Given the description of an element on the screen output the (x, y) to click on. 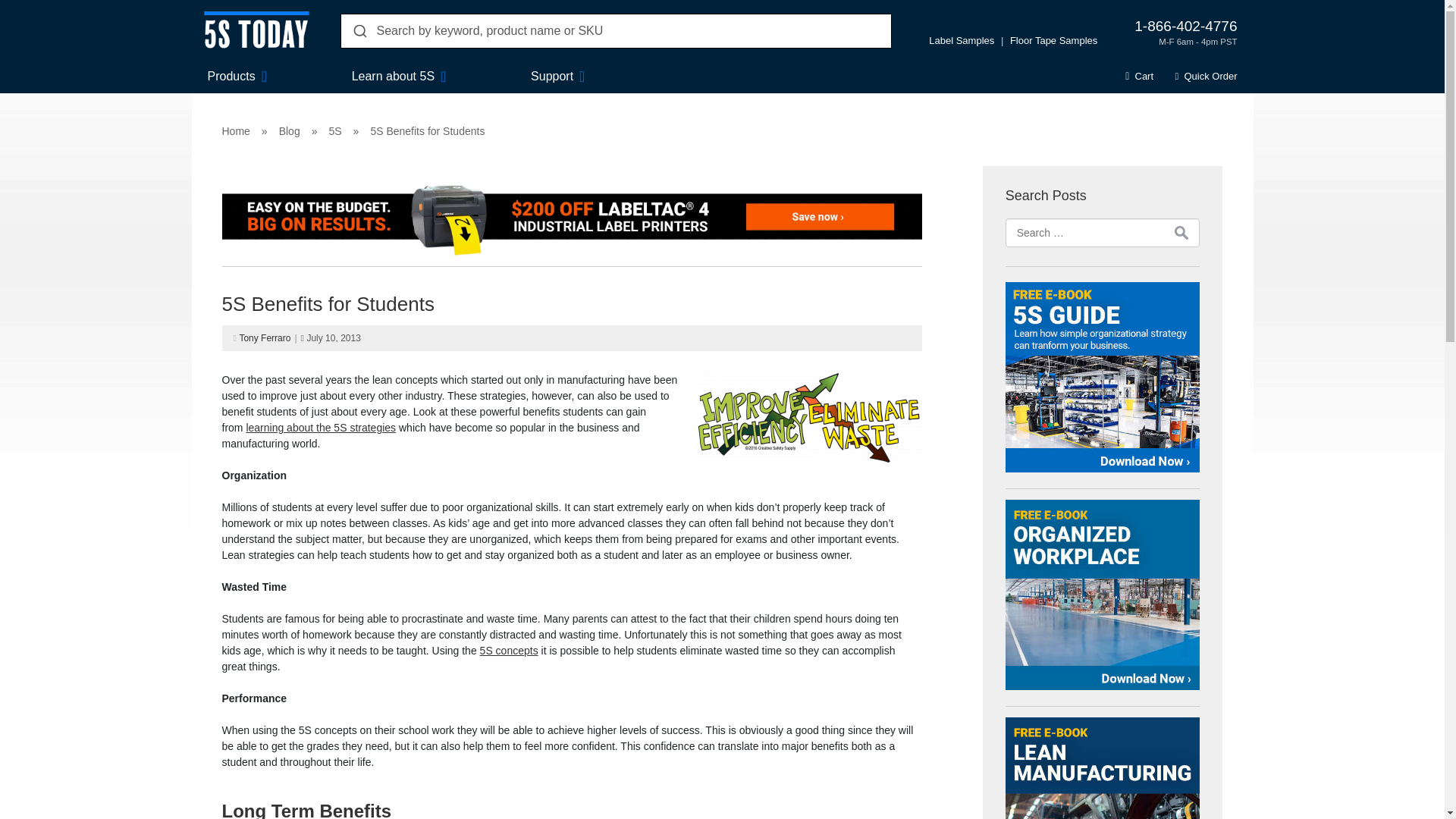
Label Samples (961, 40)
5S Today logo (255, 32)
Products (232, 76)
Floor Tape Samples (1053, 40)
1-866-402-4776 (1185, 26)
